Given the description of an element on the screen output the (x, y) to click on. 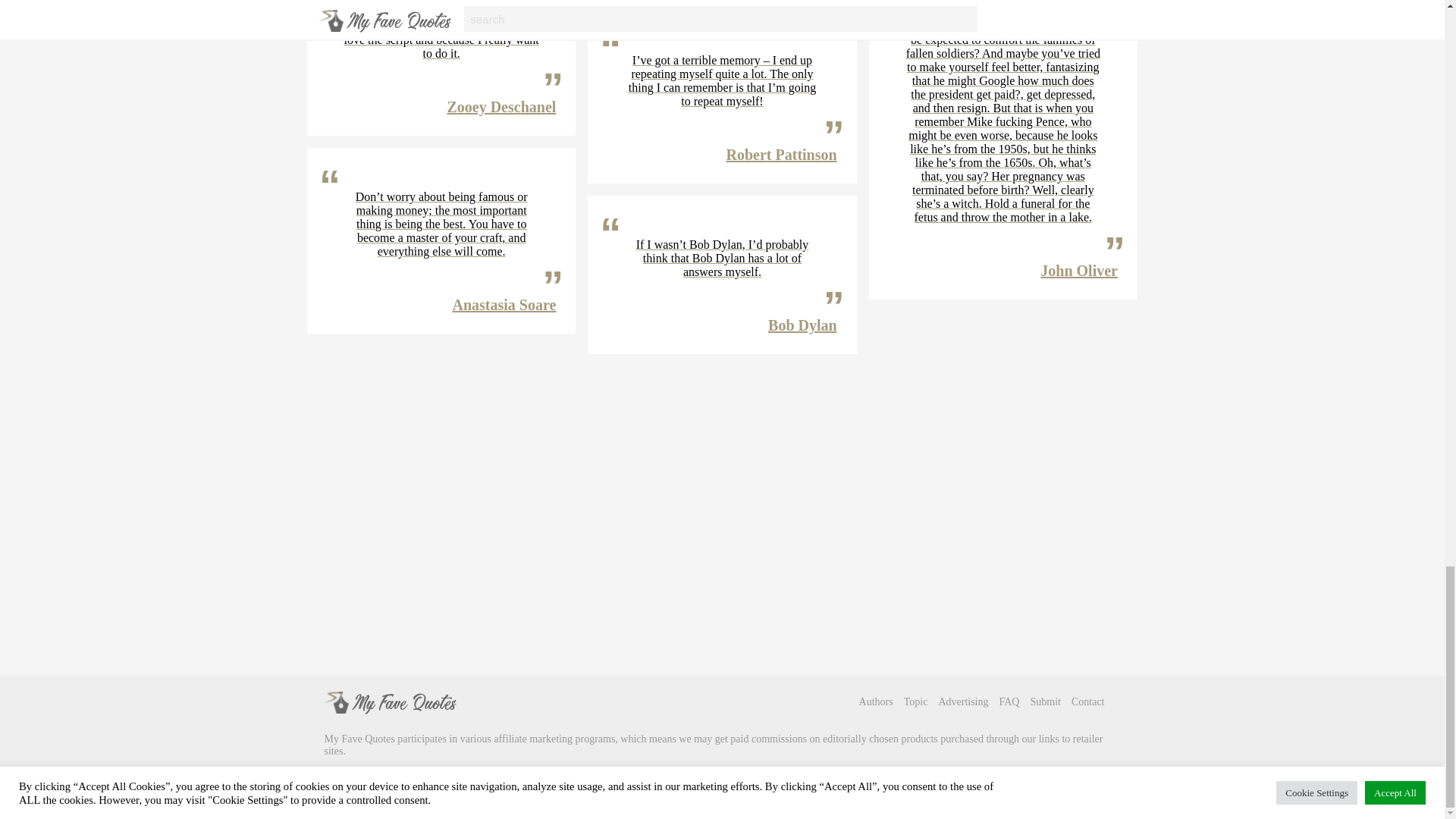
Zooey Deschanel (501, 106)
